Given the description of an element on the screen output the (x, y) to click on. 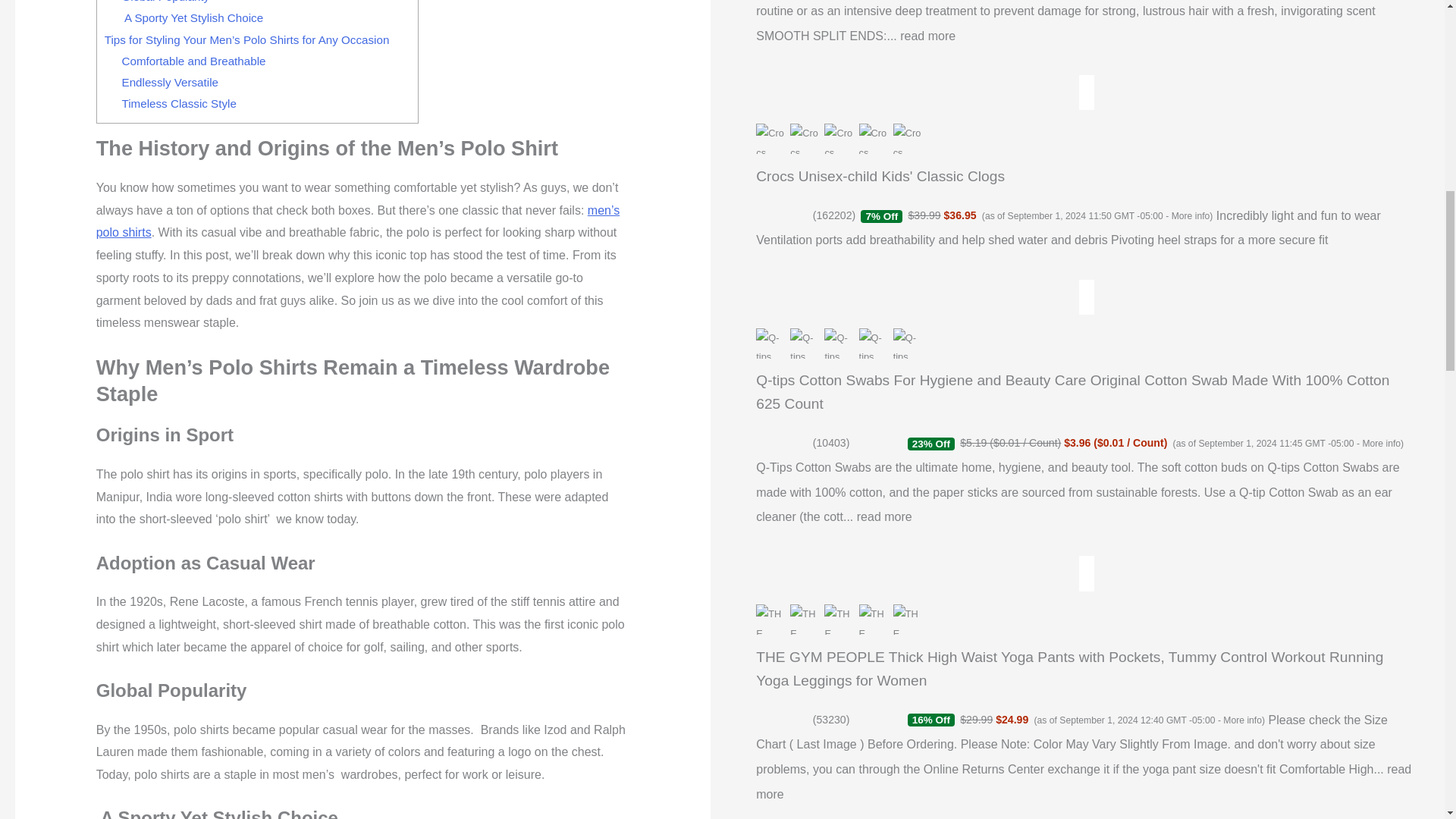
Endlessly Versatile (170, 82)
Global Popularity (165, 1)
Timeless Classic Style (178, 103)
 A Sporty Yet Stylish Choice (192, 17)
Comfortable and Breathable    (199, 60)
